Given the description of an element on the screen output the (x, y) to click on. 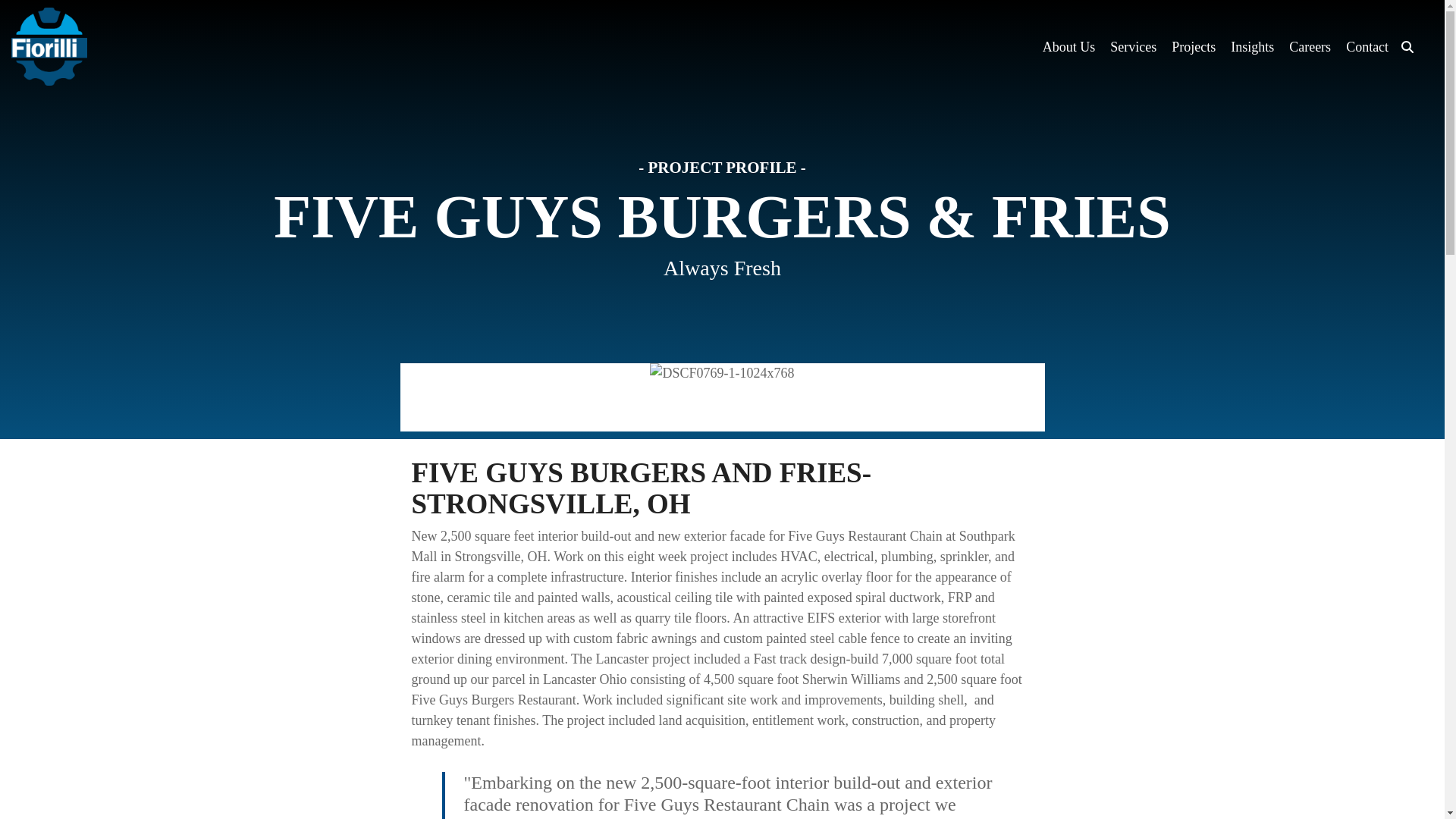
Services (1132, 46)
Building Together Gear Logo PNG-2 (49, 46)
Careers (1309, 46)
Insights (1252, 46)
Projects (1193, 46)
Contact (1367, 46)
About Us (1069, 46)
